Given the description of an element on the screen output the (x, y) to click on. 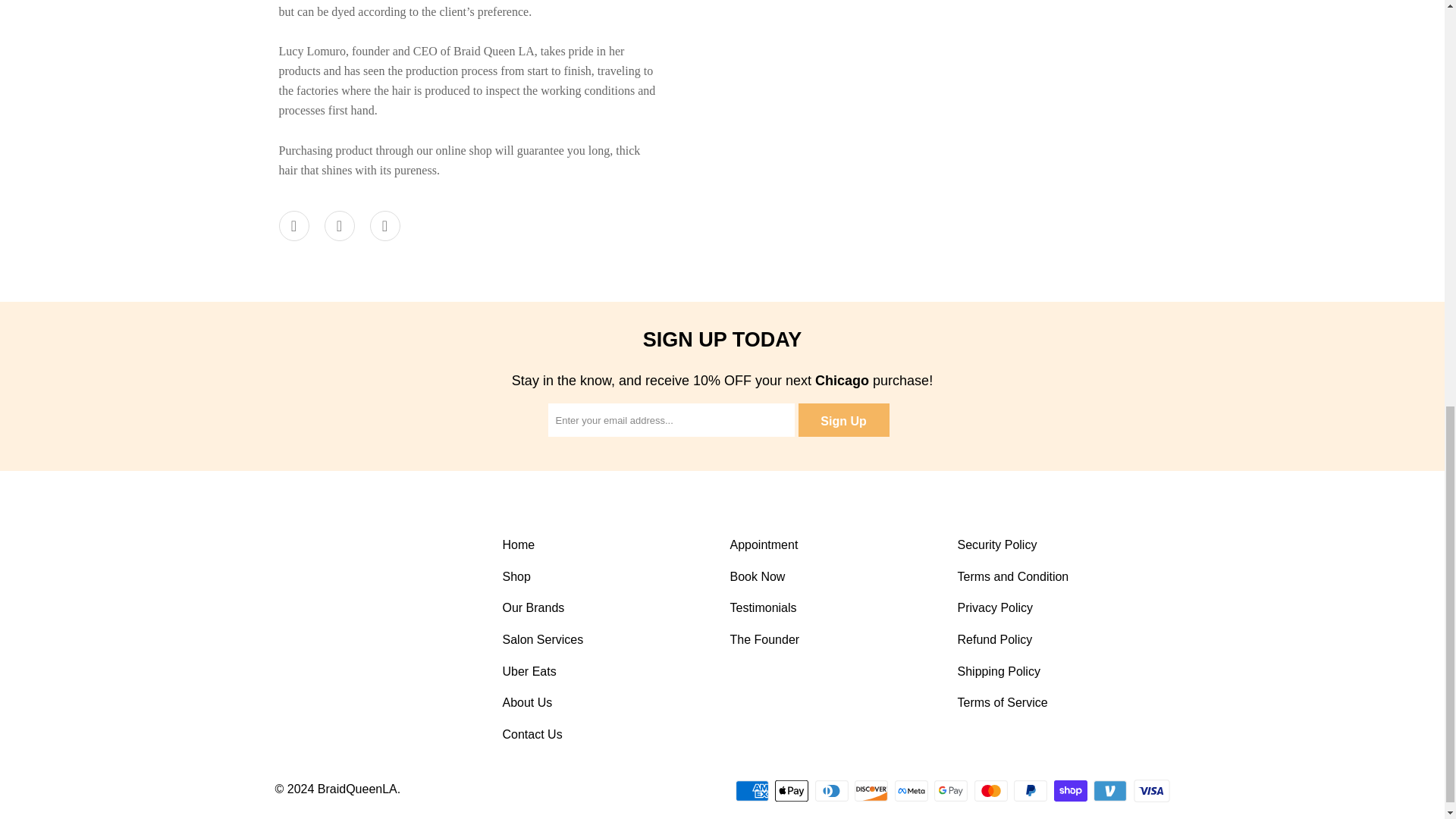
Shop Pay (1072, 790)
Sign Up (842, 419)
Apple Pay (792, 790)
Mastercard (992, 790)
Discover (872, 790)
Google Pay (952, 790)
Visa (1150, 790)
Venmo (1111, 790)
American Express (753, 790)
PayPal (1031, 790)
